Given the description of an element on the screen output the (x, y) to click on. 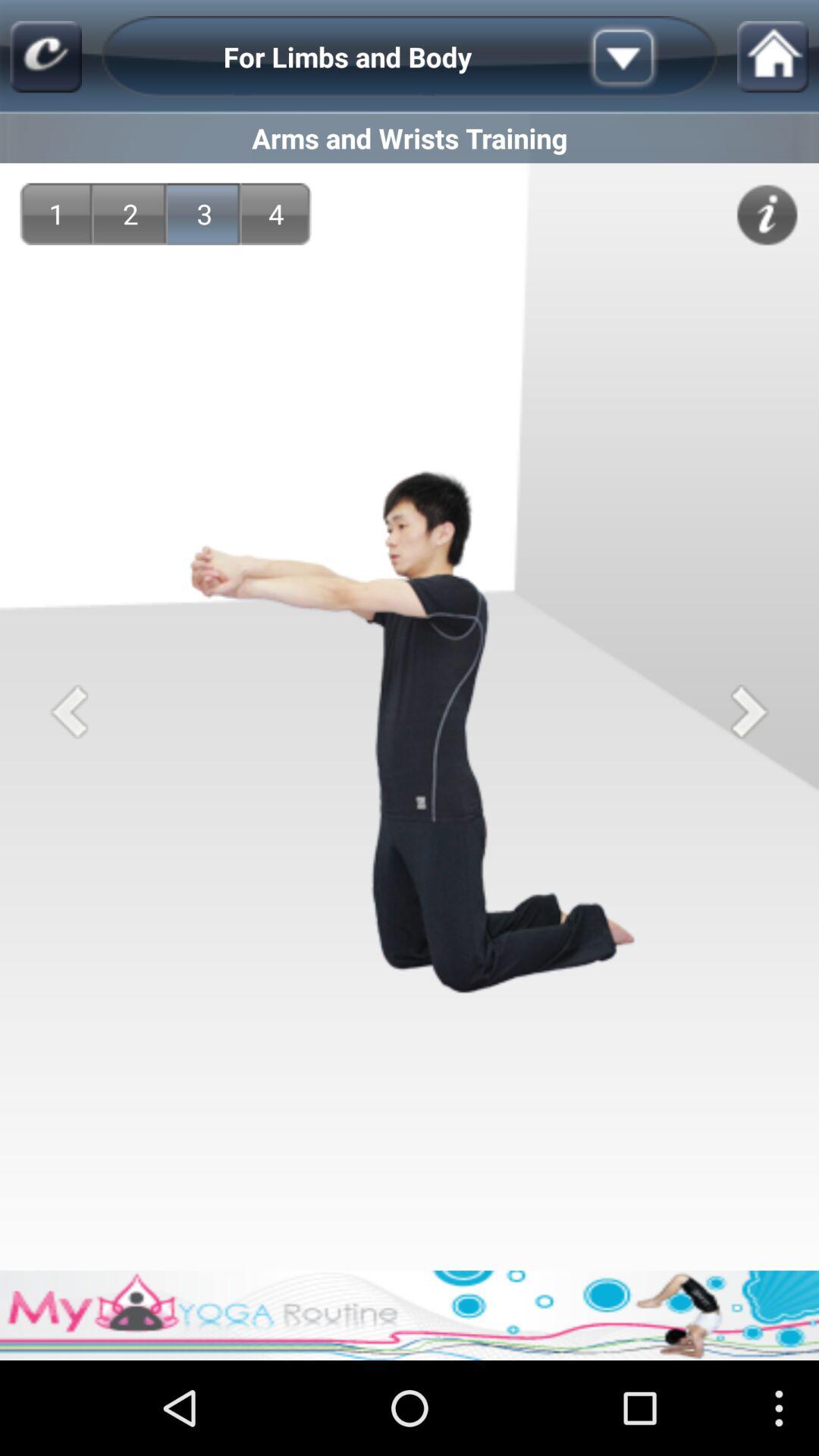
go to home icon (772, 56)
